Given the description of an element on the screen output the (x, y) to click on. 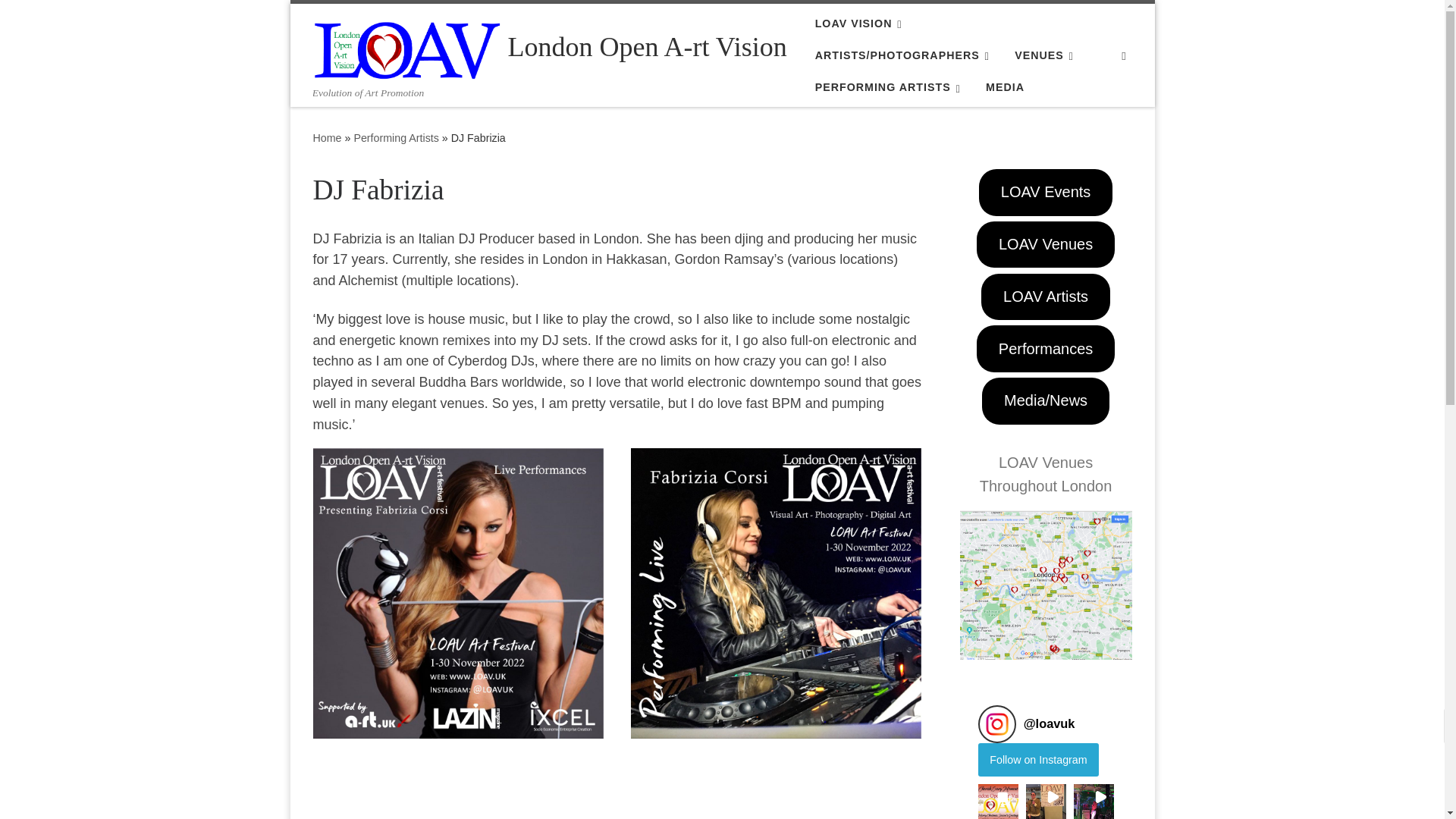
London Open A-rt Vision (647, 46)
Skip to content (60, 20)
LOAV VISION (860, 23)
Performing Artists (395, 137)
London Open A-rt Vision (326, 137)
